Given the description of an element on the screen output the (x, y) to click on. 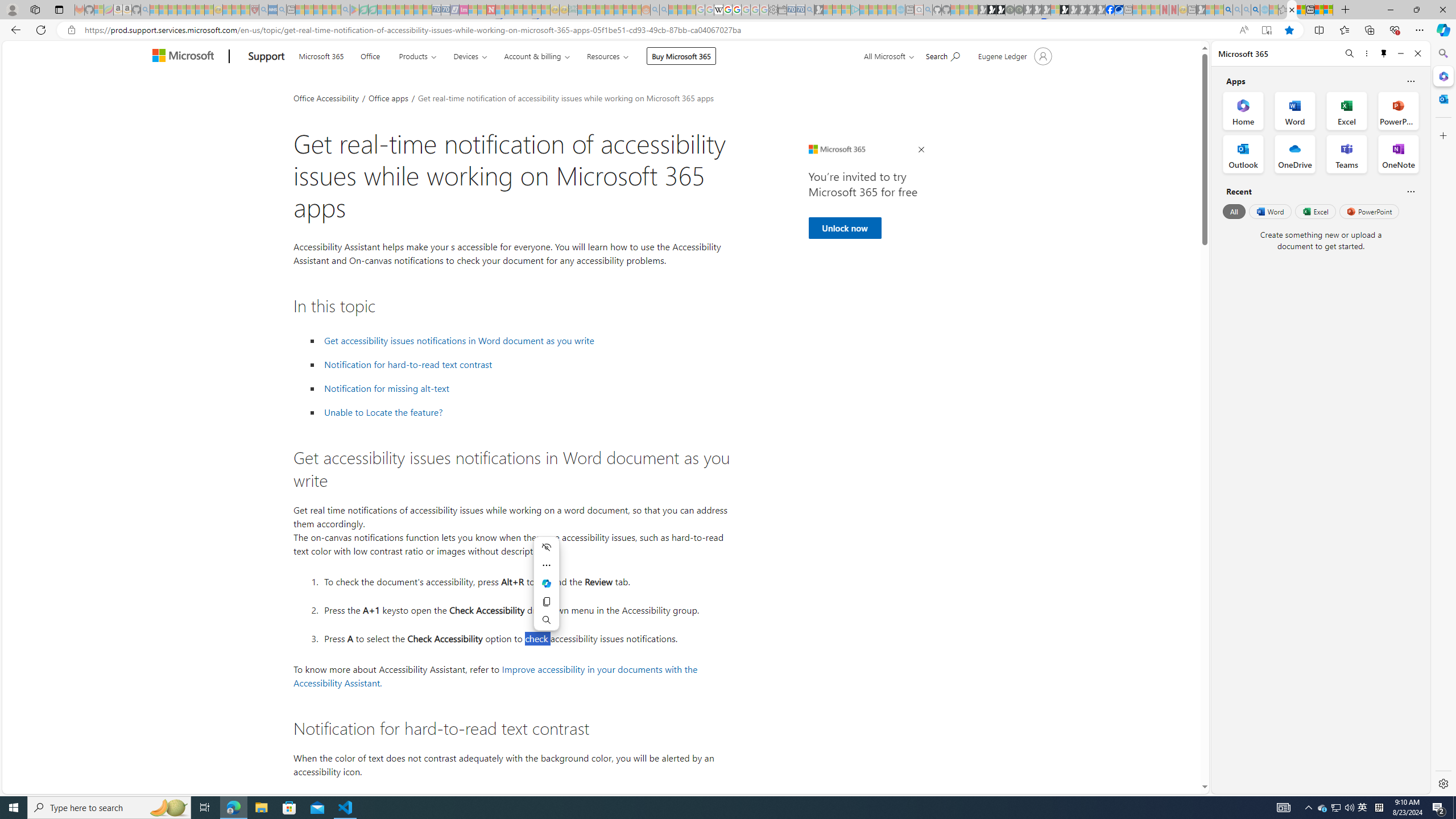
OneNote Office App (1398, 154)
PowerPoint Office App (1398, 110)
Sign in to your account - Sleeping (1054, 9)
Office (369, 54)
